Given the description of an element on the screen output the (x, y) to click on. 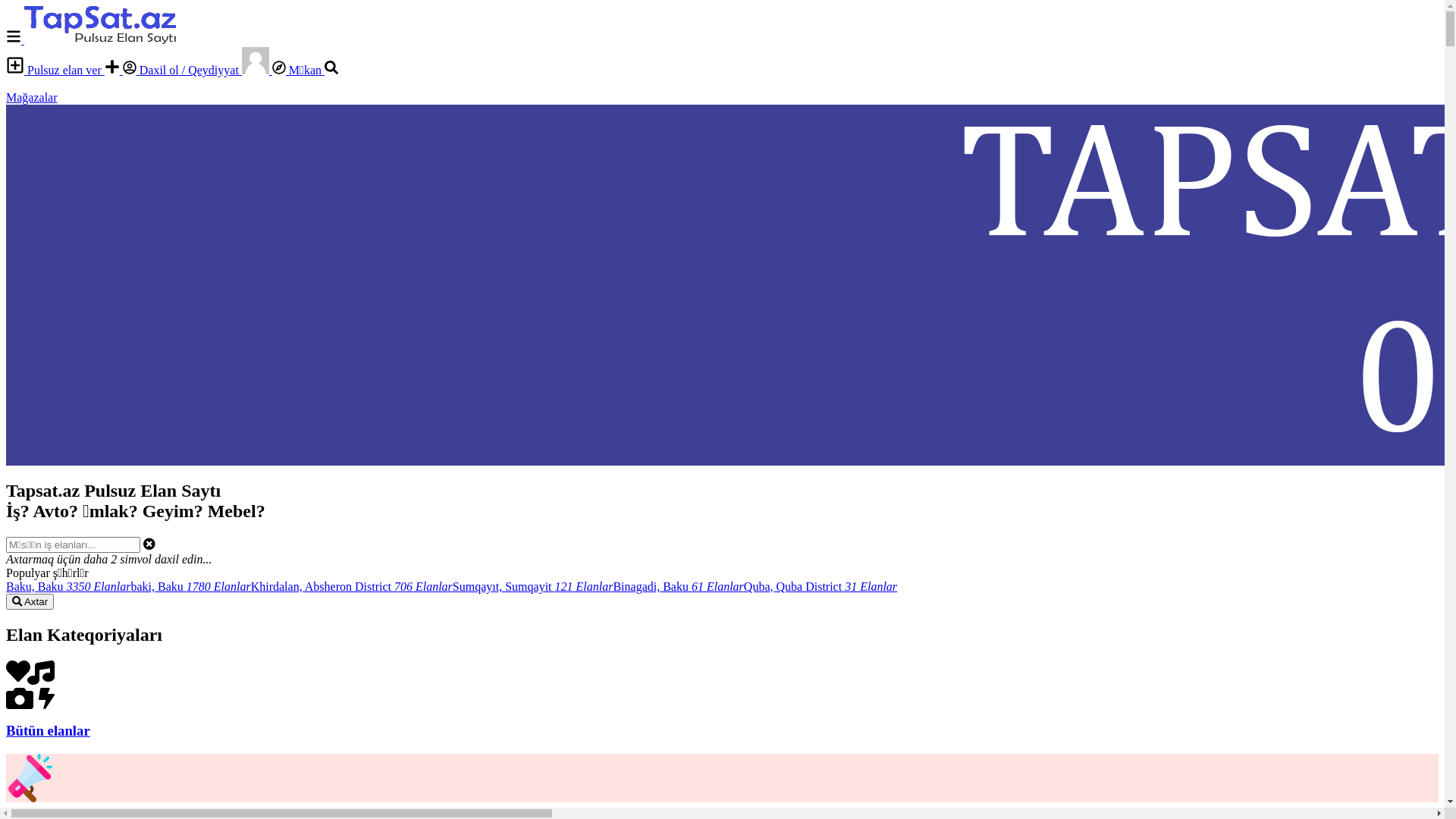
Khirdalan, Absheron District 706 Elanlar Element type: text (351, 586)
Baku, Baku 3350 Elanlar Element type: text (68, 586)
Binagadi, Baku 61 Elanlar Element type: text (677, 586)
baki, Baku 1780 Elanlar Element type: text (190, 586)
Axtar Element type: text (29, 601)
Pulsuz elan ver Element type: text (55, 69)
Daxil ol / Qeydiyyat Element type: text (181, 69)
Quba, Quba District 31 Elanlar Element type: text (820, 586)
